Given the description of an element on the screen output the (x, y) to click on. 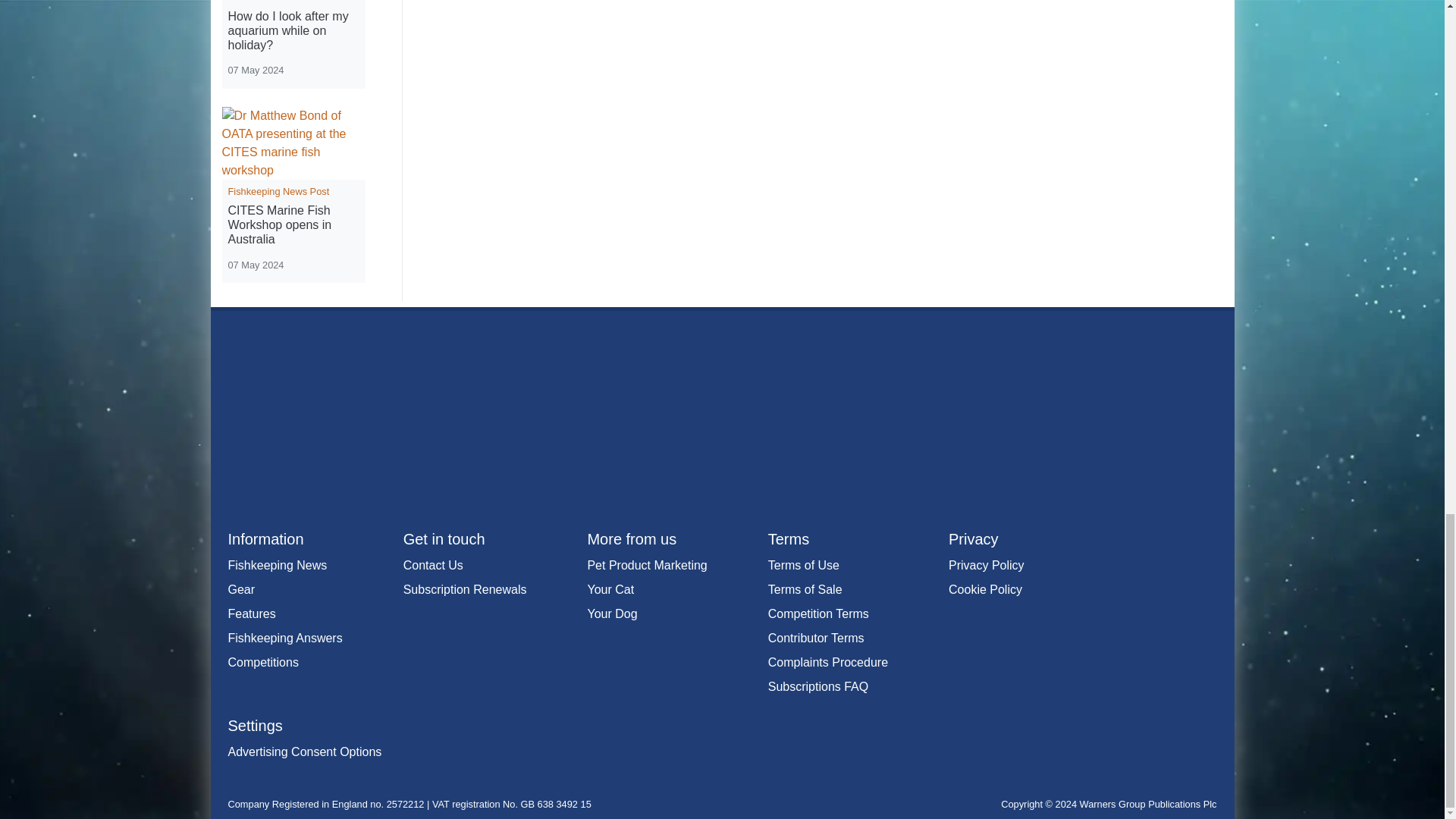
View your Advertising Consent options for this website (304, 752)
